Given the description of an element on the screen output the (x, y) to click on. 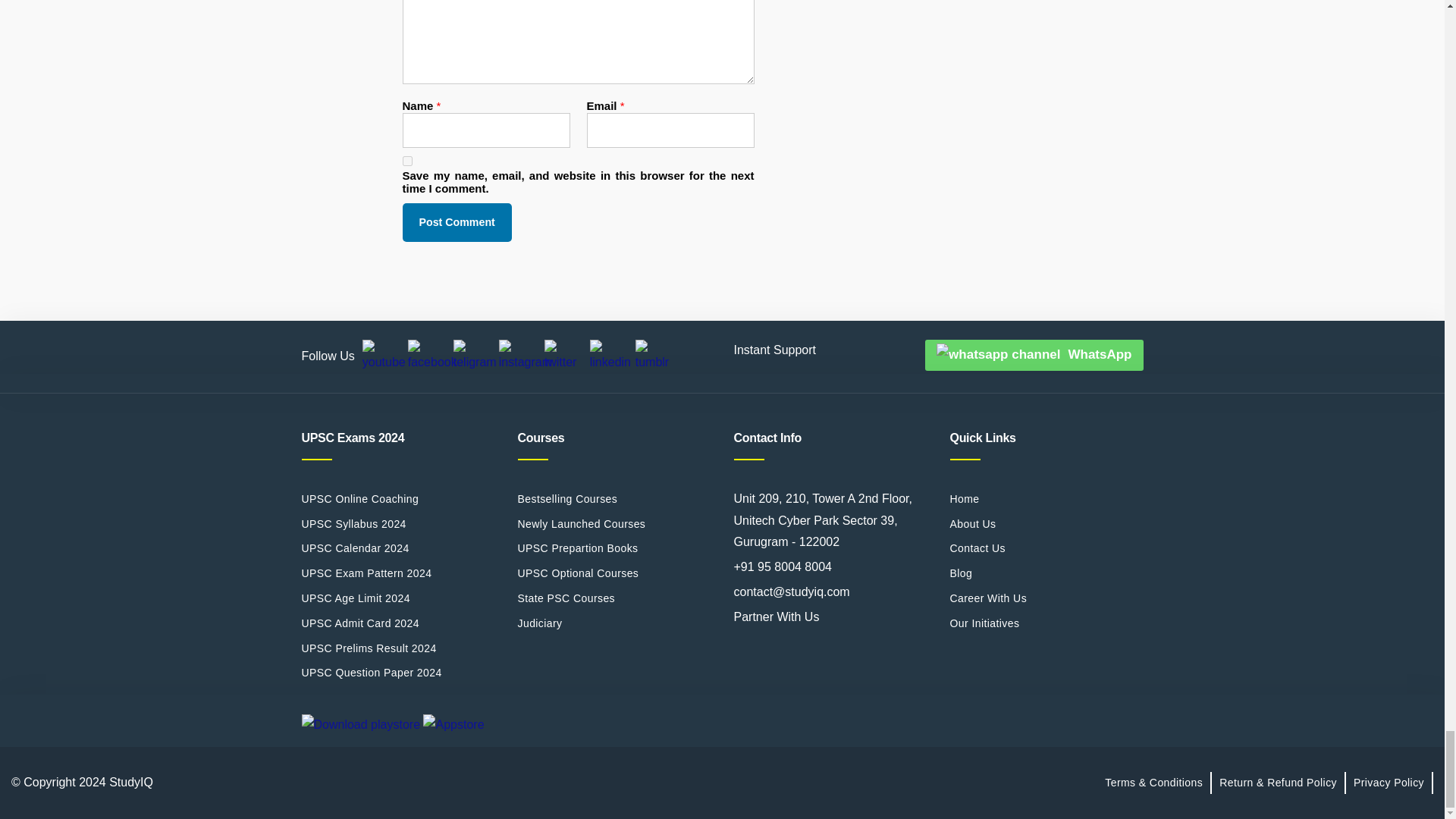
Post Comment (456, 222)
yes (406, 161)
